Given the description of an element on the screen output the (x, y) to click on. 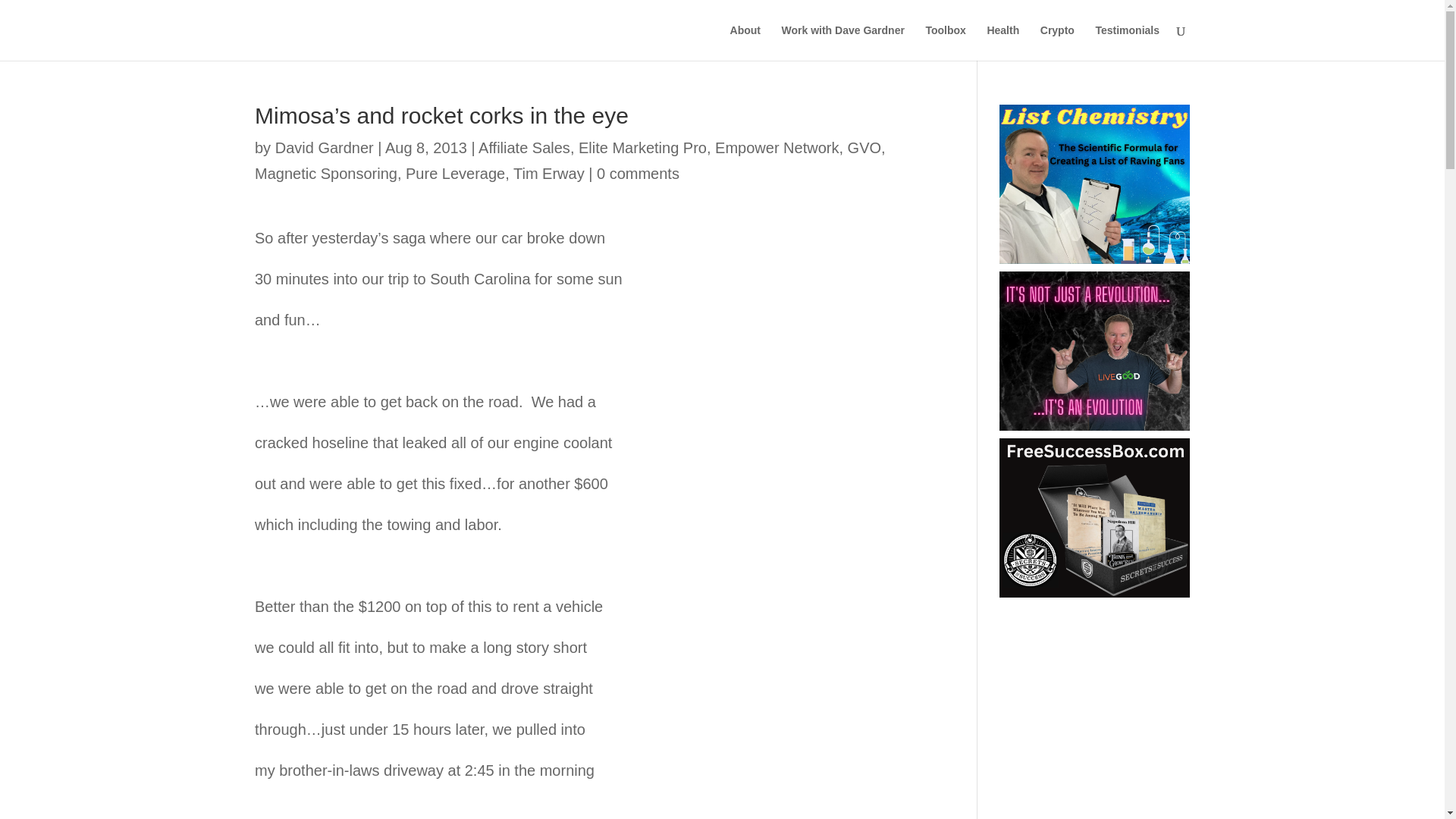
Testimonials (1126, 42)
Health (1003, 42)
Posts by David Gardner (324, 147)
GVO (863, 147)
Crypto (1057, 42)
Elite Marketing Pro (642, 147)
0 comments (637, 173)
David Gardner (324, 147)
Toolbox (944, 42)
Pure Leverage (455, 173)
Work with Dave Gardner (842, 42)
Tim Erway (549, 173)
Magnetic Sponsoring (325, 173)
Affiliate Sales (524, 147)
Empower Network (776, 147)
